Given the description of an element on the screen output the (x, y) to click on. 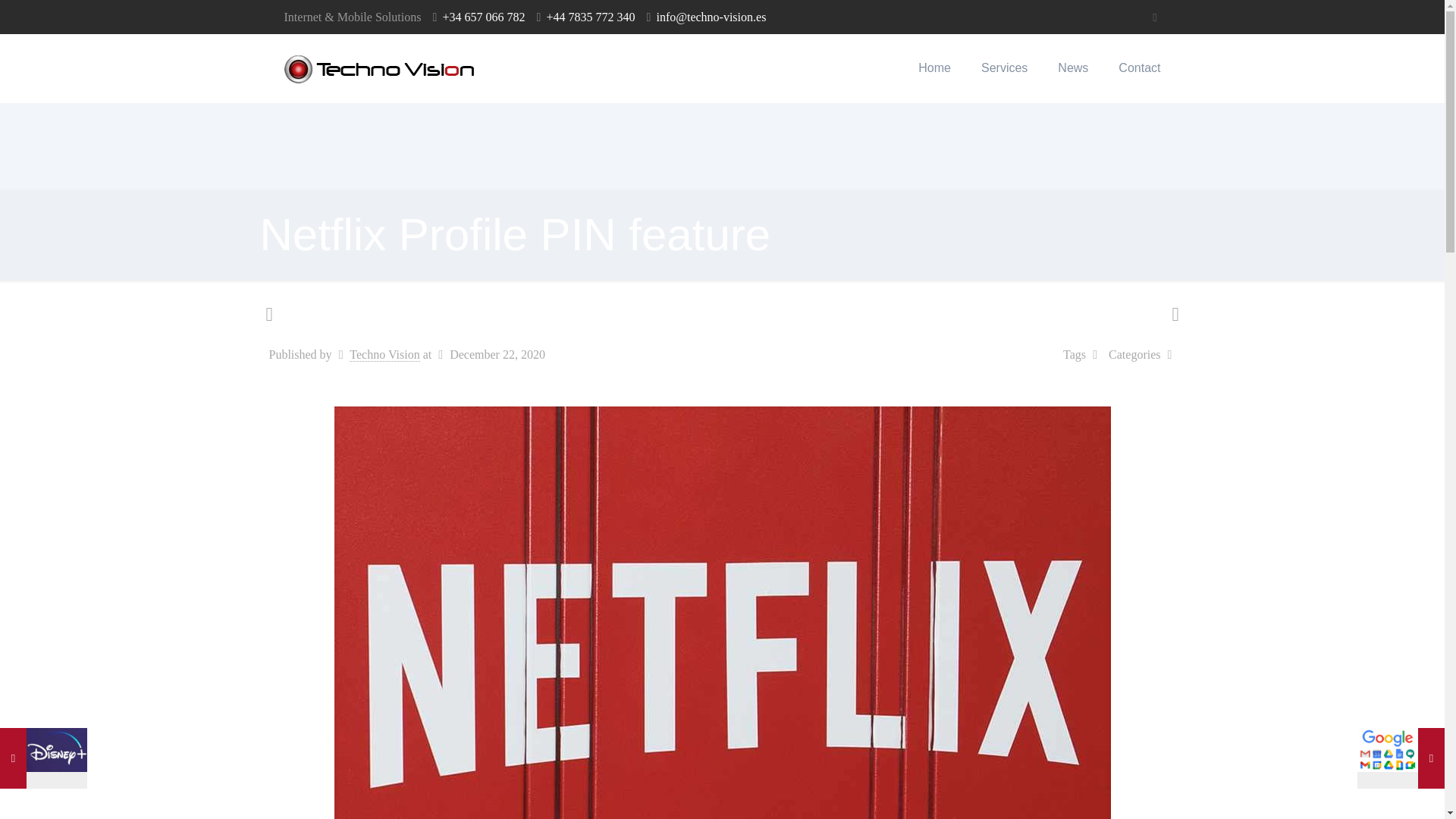
Techno Vision (384, 354)
Contact (1138, 68)
Services (1004, 68)
WhatsApp (1155, 17)
Home (934, 68)
Techno-Vision (379, 68)
